Given the description of an element on the screen output the (x, y) to click on. 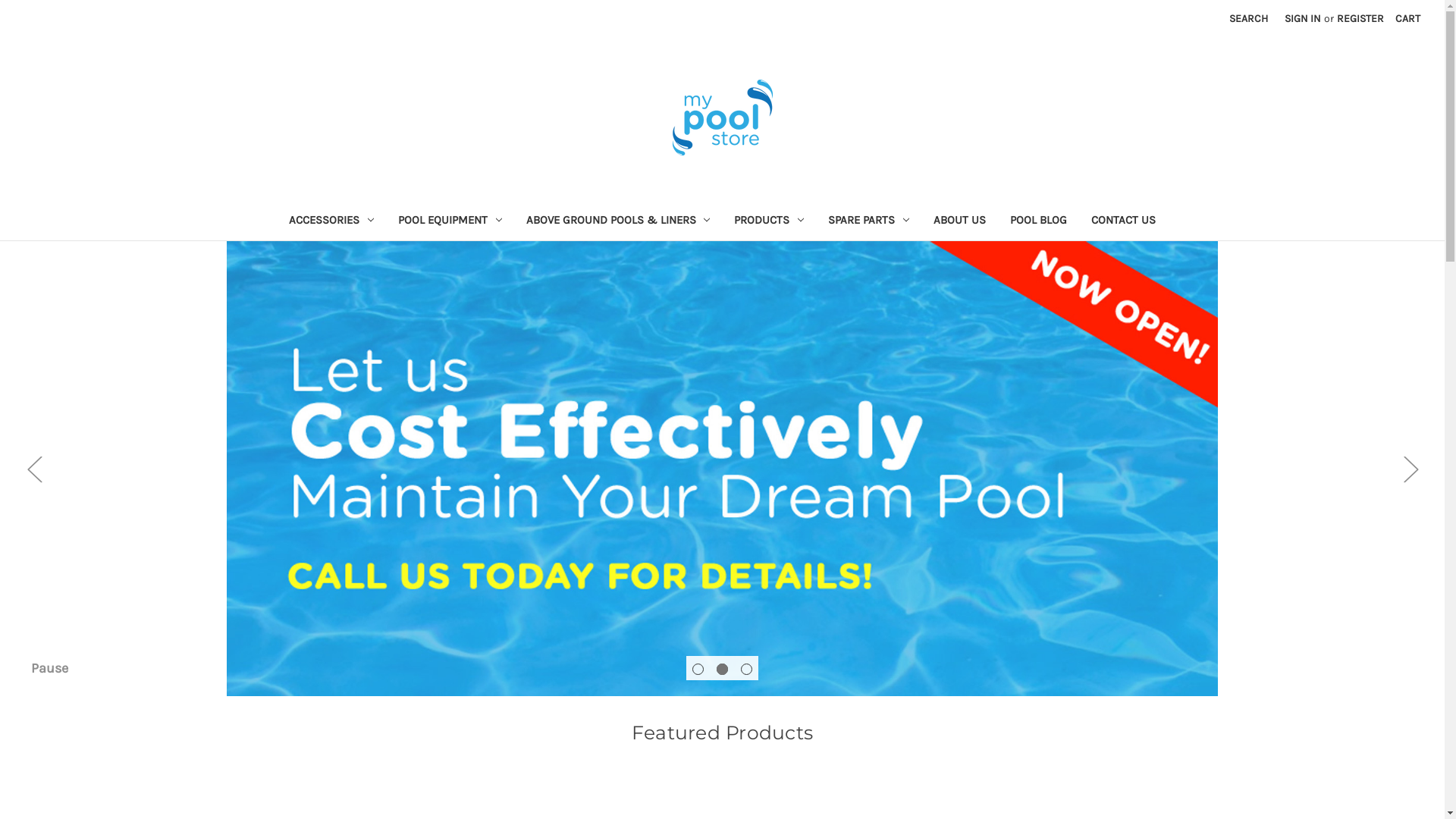
ACCESSORIES Element type: text (330, 221)
Previous Element type: text (33, 468)
PRODUCTS Element type: text (768, 221)
SPARE PARTS Element type: text (868, 221)
ABOUT US Element type: text (959, 221)
CART Element type: text (1407, 18)
REGISTER Element type: text (1360, 18)
POOL BLOG Element type: text (1038, 221)
SIGN IN Element type: text (1302, 18)
Pause Element type: text (48, 667)
ABOVE GROUND POOLS & LINERS Element type: text (618, 221)
CONTACT US Element type: text (1123, 221)
SEARCH Element type: text (1248, 18)
POOL EQUIPMENT Element type: text (449, 221)
Welcome to MyPoolStore.com.au Element type: hover (721, 117)
Next Element type: text (1410, 468)
